Given the description of an element on the screen output the (x, y) to click on. 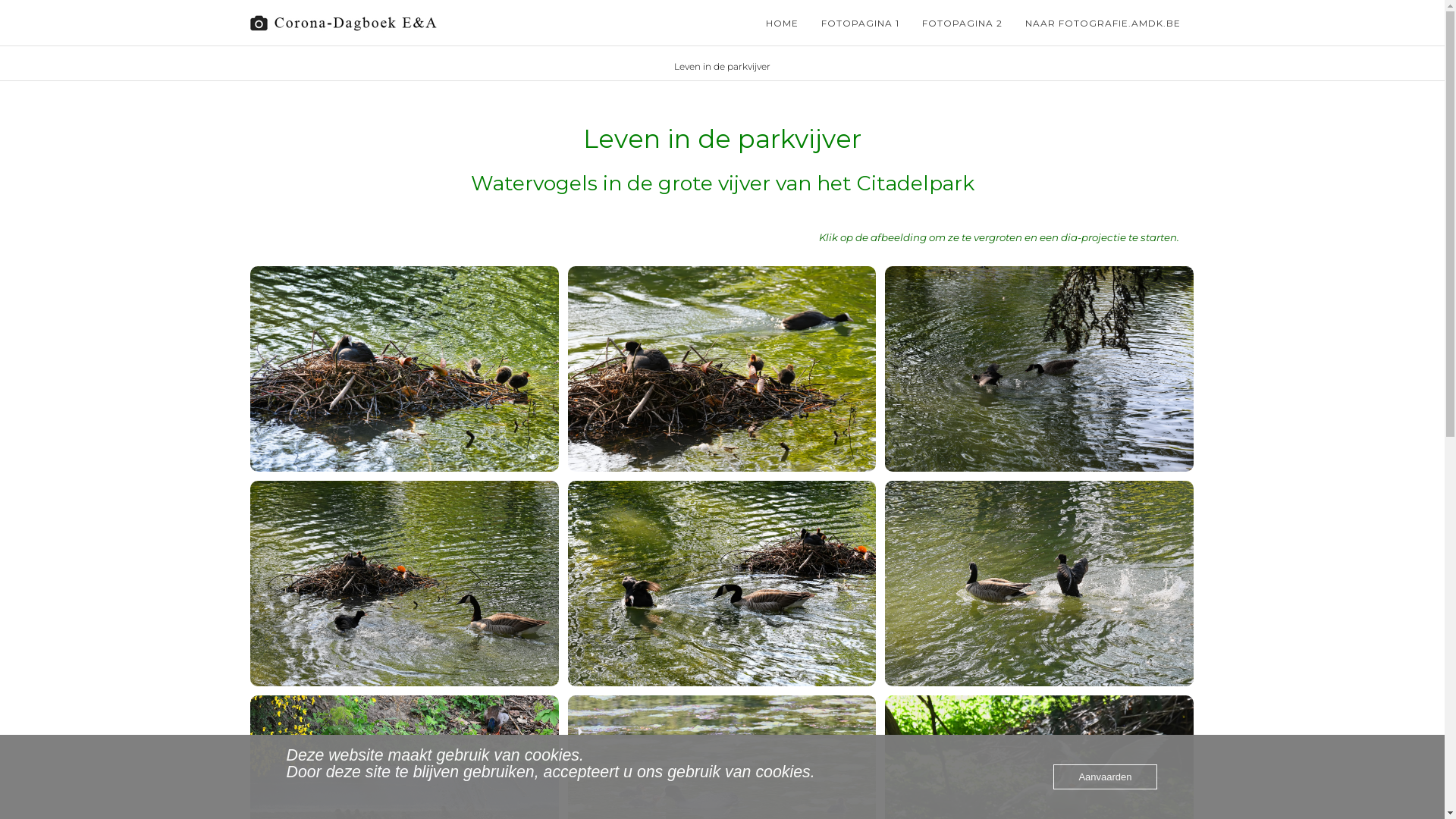
Aanvaarden Element type: text (1104, 776)
